Given the description of an element on the screen output the (x, y) to click on. 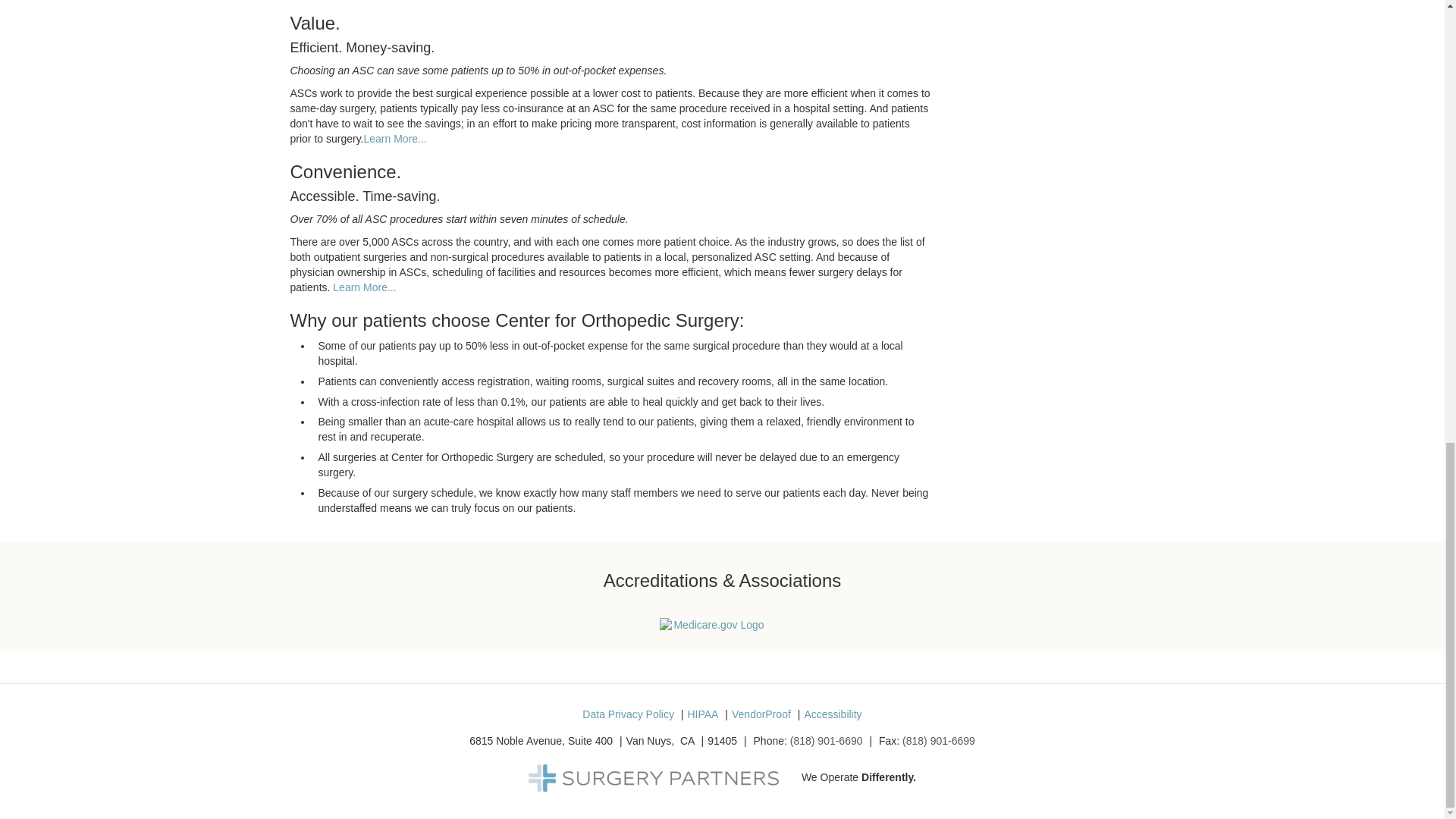
HIPAA (702, 714)
Learn More... (364, 287)
Data Privacy Policy (628, 714)
Learn More... (395, 138)
VendorProof (761, 714)
Accessibility (832, 714)
